Given the description of an element on the screen output the (x, y) to click on. 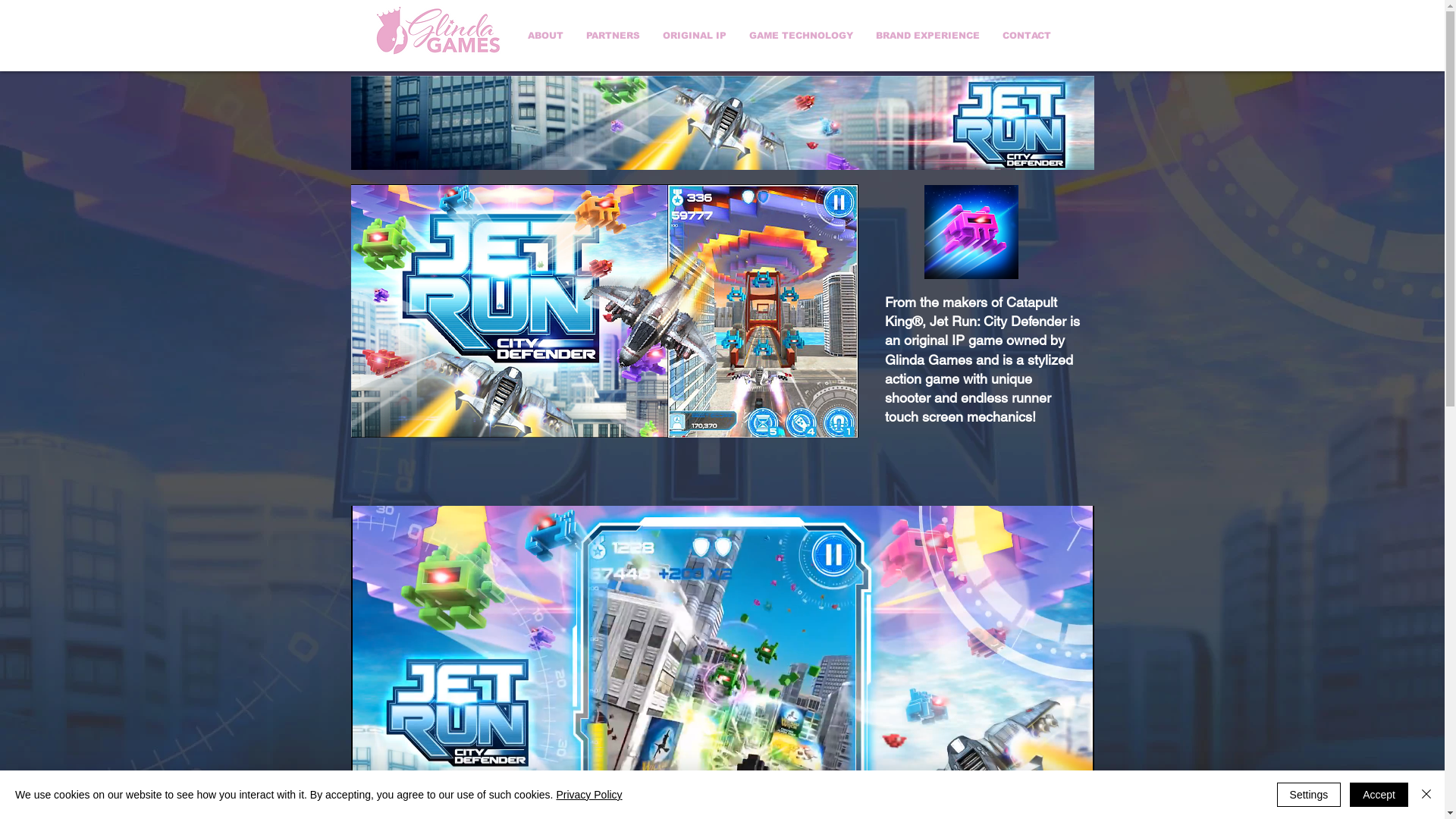
CONTACT Element type: text (1025, 35)
Accept Element type: text (1378, 794)
ABOUT Element type: text (544, 35)
81AzazN08eL.png Element type: hover (970, 232)
PARTNERS Element type: text (612, 35)
Settings Element type: text (1309, 794)
Privacy Policy Element type: text (588, 794)
